Given the description of an element on the screen output the (x, y) to click on. 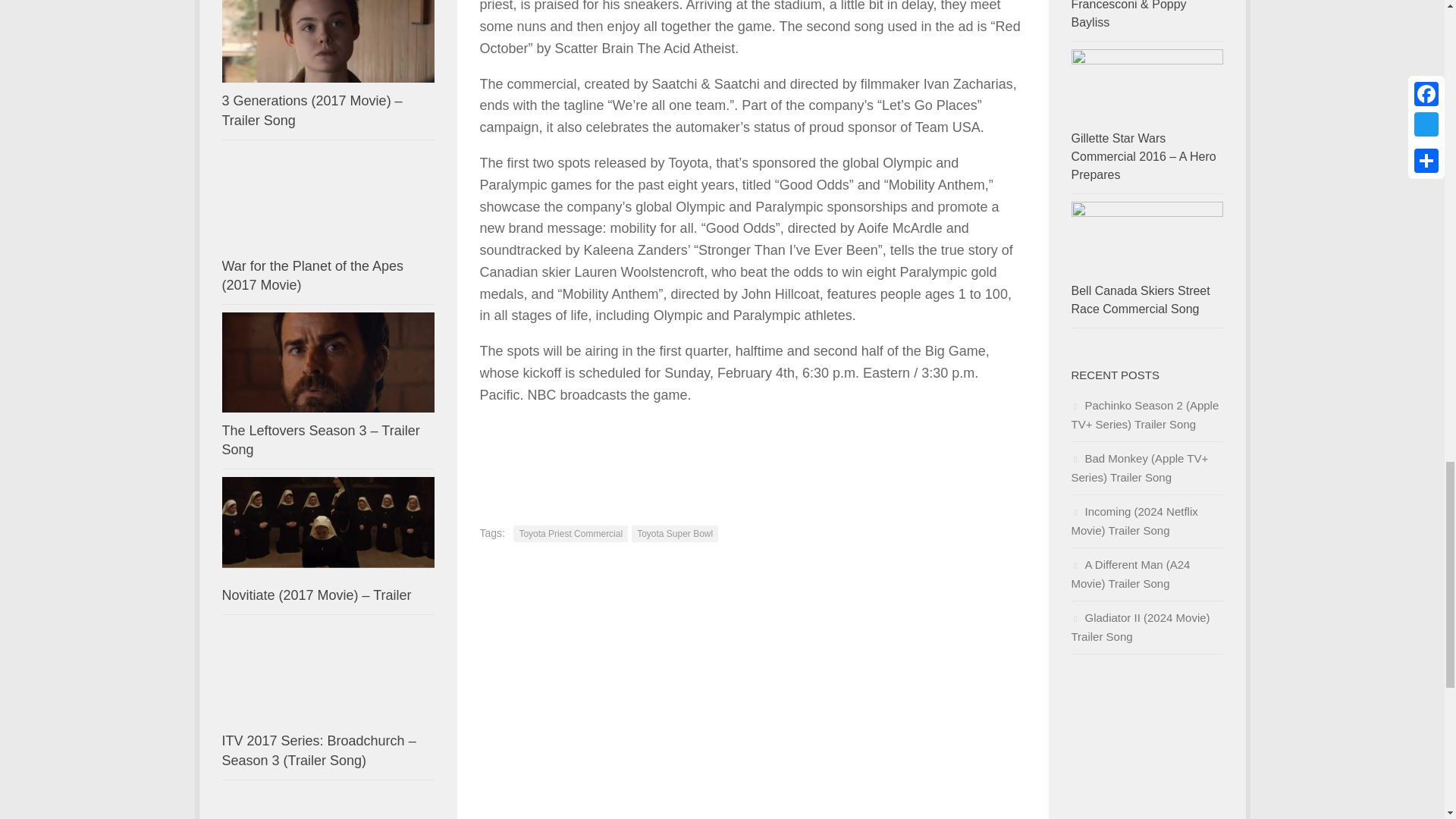
Toyota Super Bowl (674, 533)
Toyota Priest Commercial (570, 533)
